Given the description of an element on the screen output the (x, y) to click on. 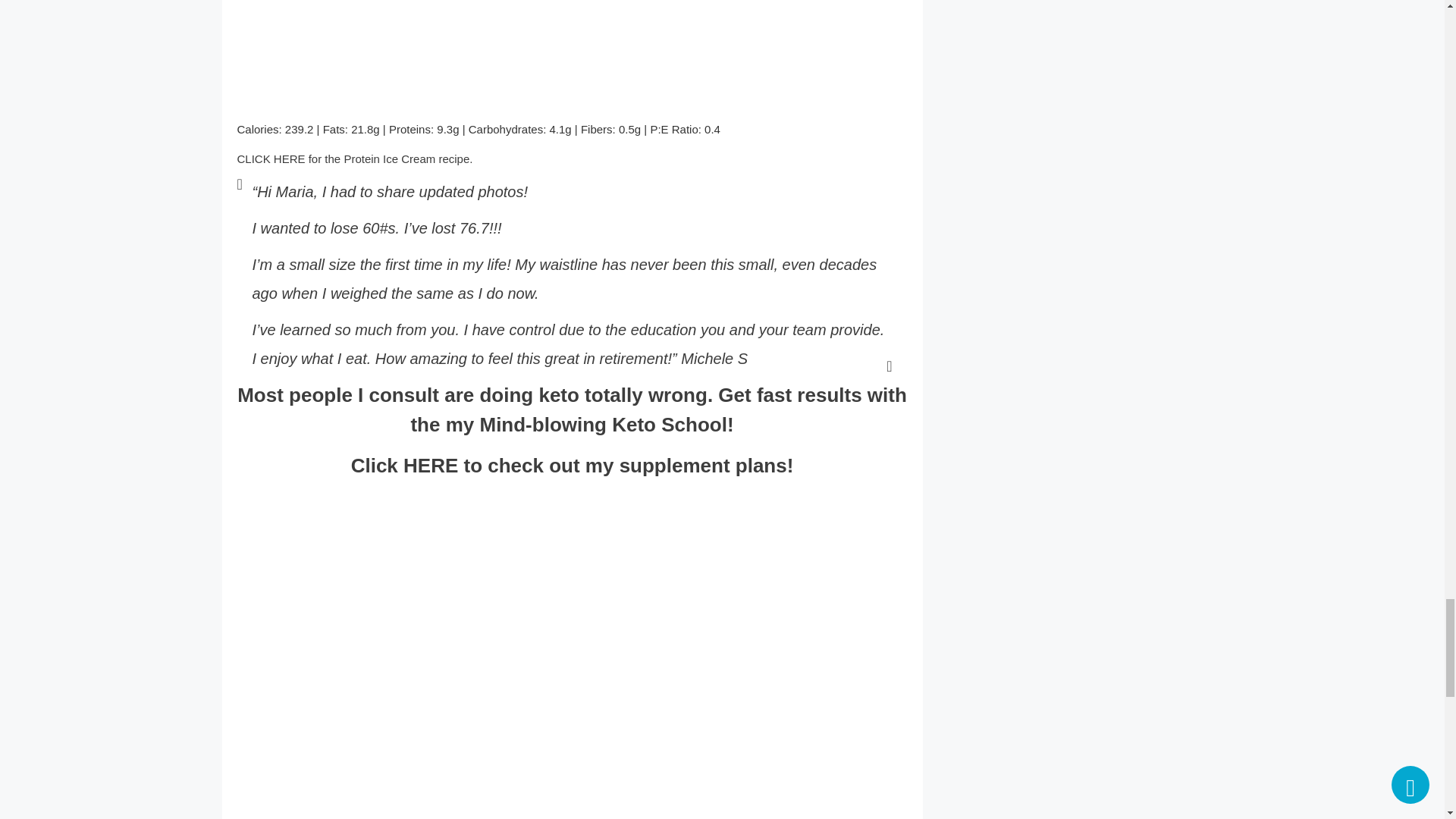
The BEST Keto Hot Fudge Sundae (478, 52)
